Given the description of an element on the screen output the (x, y) to click on. 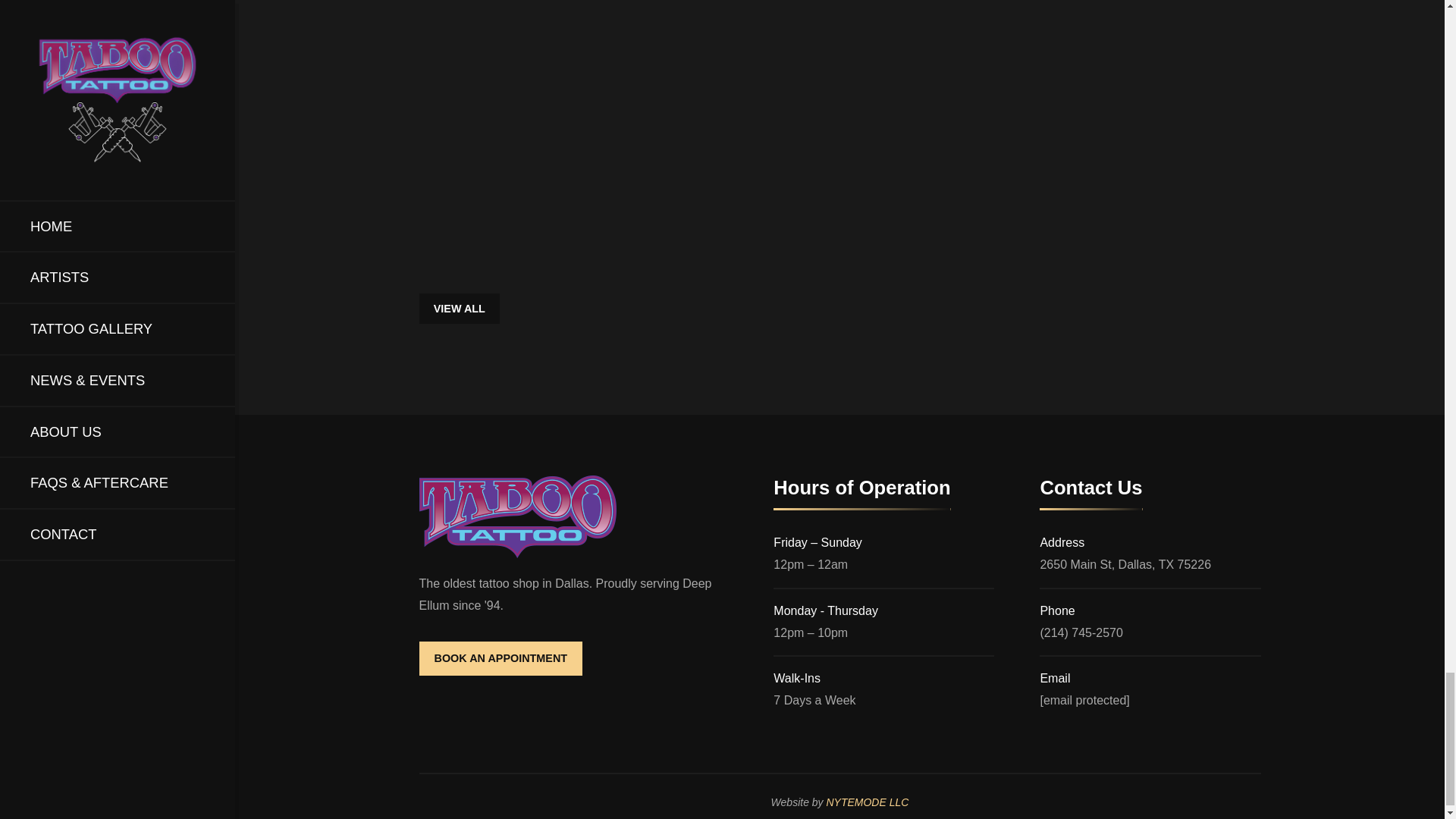
NYTEMODE LLC (866, 802)
VIEW ALL (459, 308)
BOOK AN APPOINTMENT (500, 658)
